Given the description of an element on the screen output the (x, y) to click on. 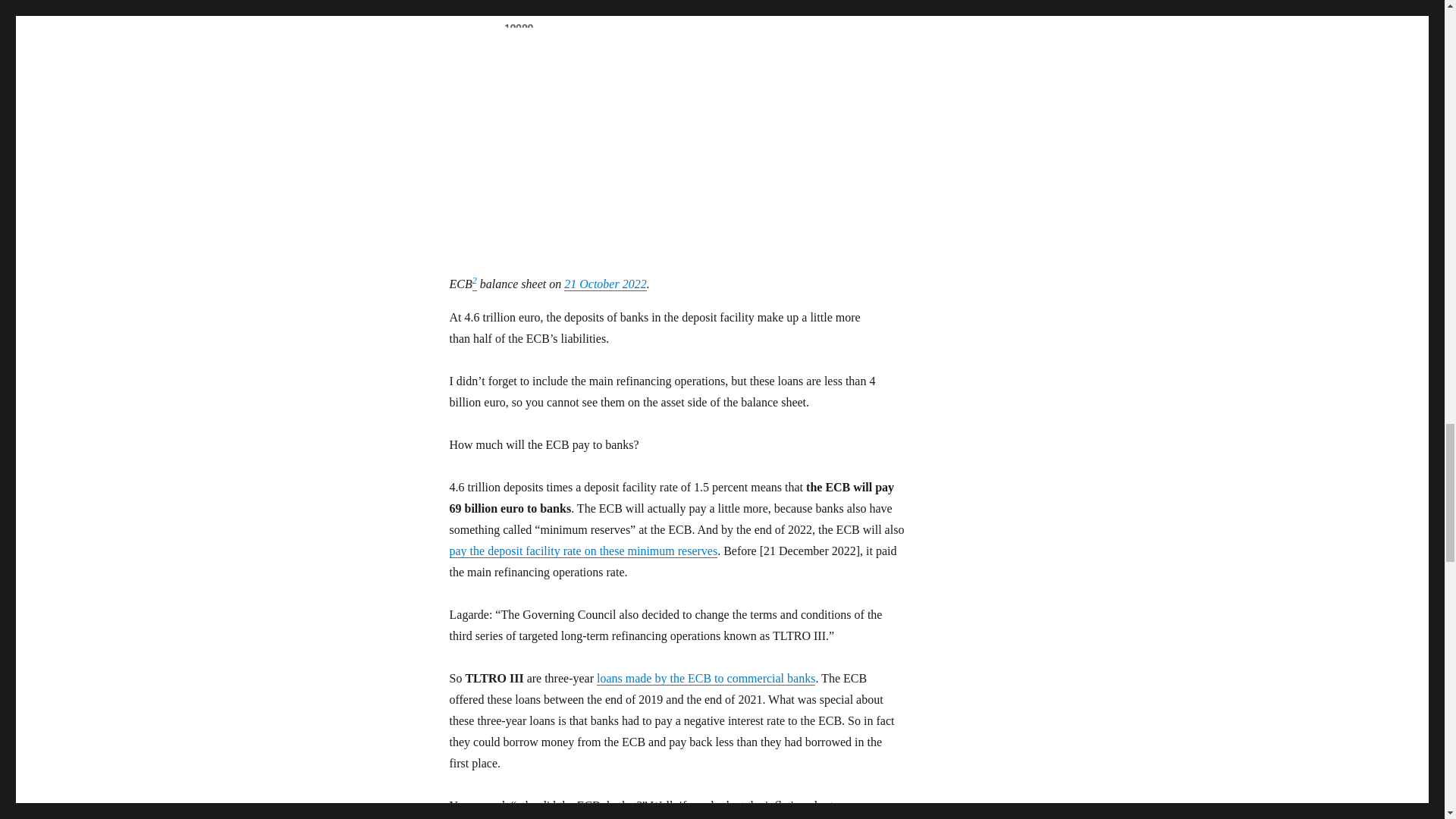
pay the deposit facility rate on these minimum reserves (582, 550)
21 October 2022 (605, 283)
loans made by the ECB to commercial banks (705, 677)
